Given the description of an element on the screen output the (x, y) to click on. 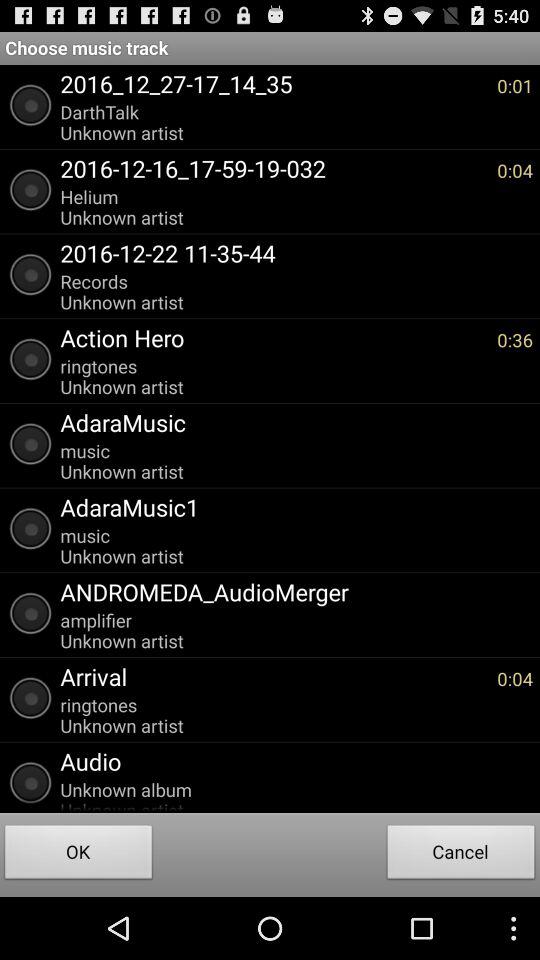
choose the arrival app (273, 676)
